Given the description of an element on the screen output the (x, y) to click on. 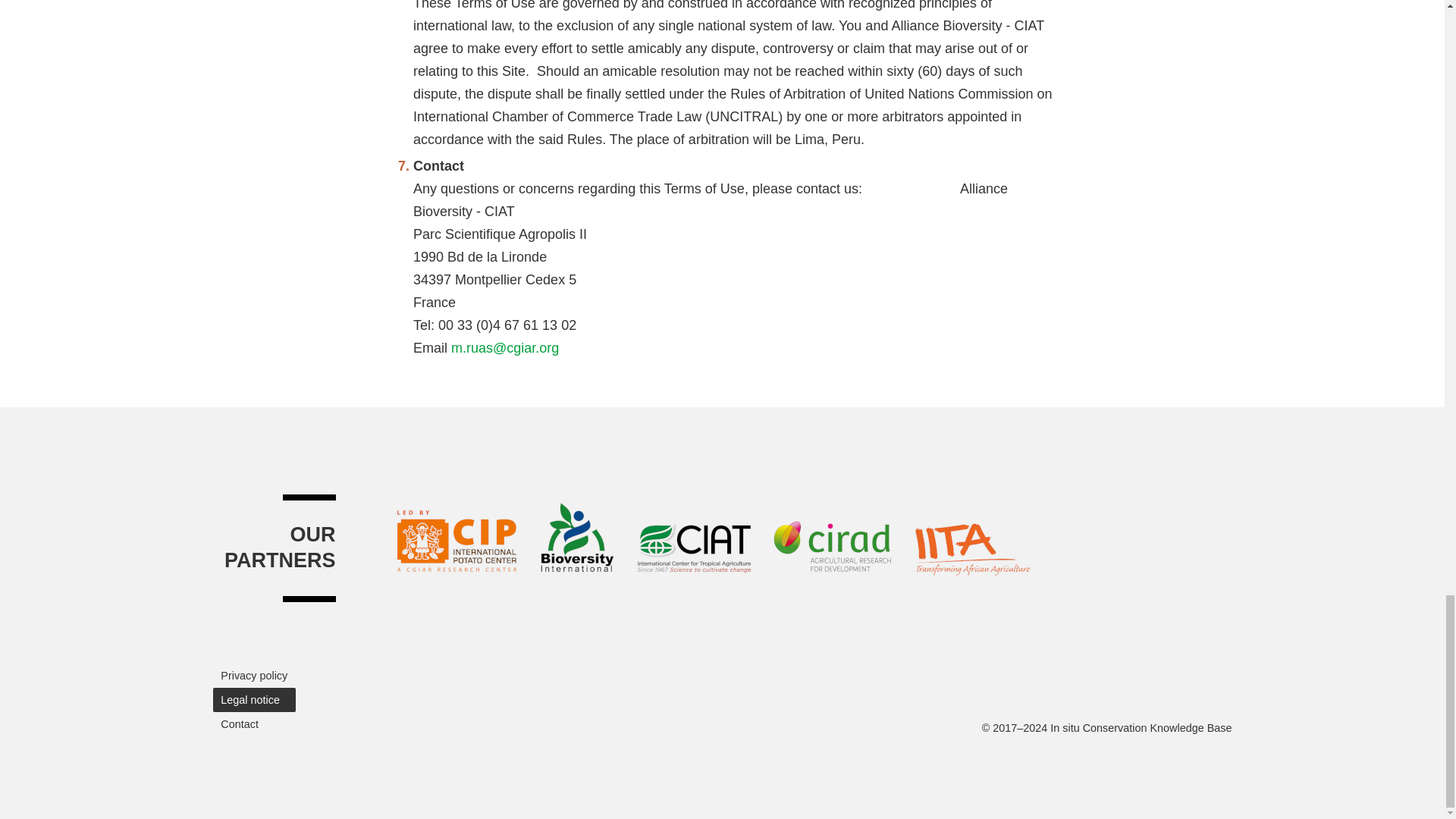
Legal notice (253, 699)
Contact (253, 723)
Privacy policy (253, 674)
